Given the description of an element on the screen output the (x, y) to click on. 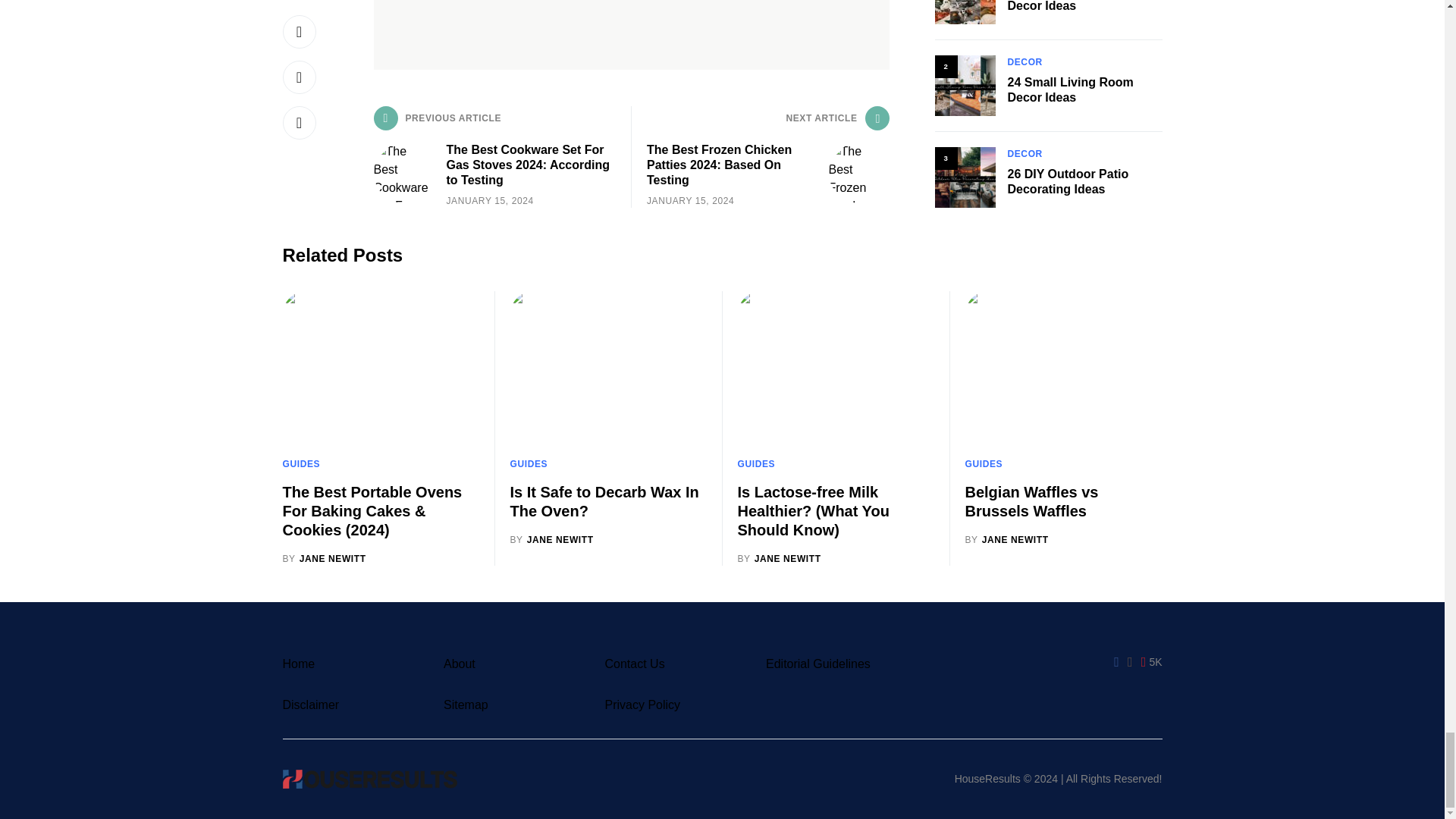
View all posts by Jane Newitt (778, 558)
View all posts by Jane Newitt (550, 540)
View all posts by Jane Newitt (323, 558)
View all posts by Jane Newitt (1005, 540)
